Given the description of an element on the screen output the (x, y) to click on. 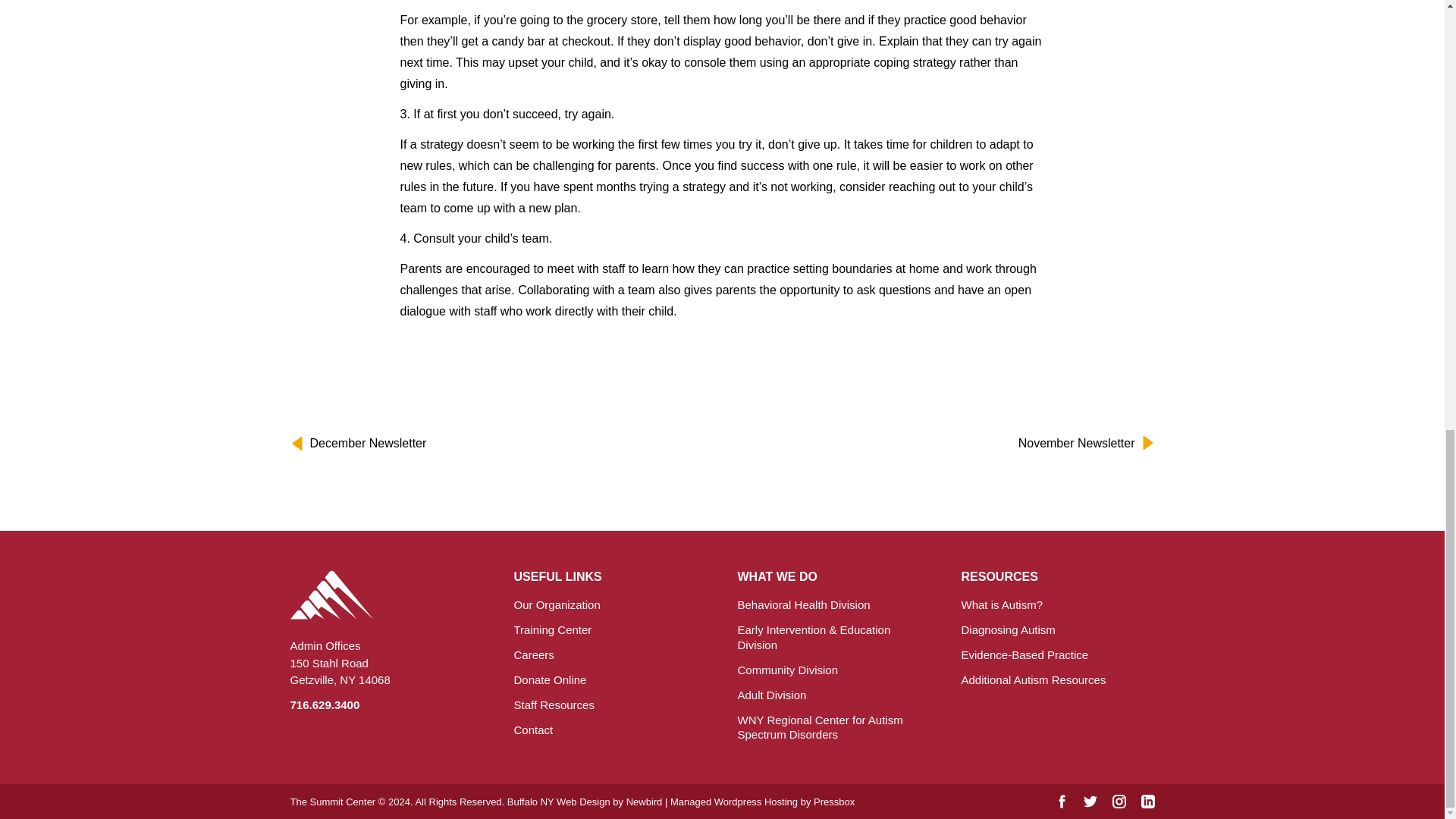
LinkedIn (1147, 801)
Instagram (1118, 801)
Twitter (1089, 801)
Facebook (1061, 801)
